Given the description of an element on the screen output the (x, y) to click on. 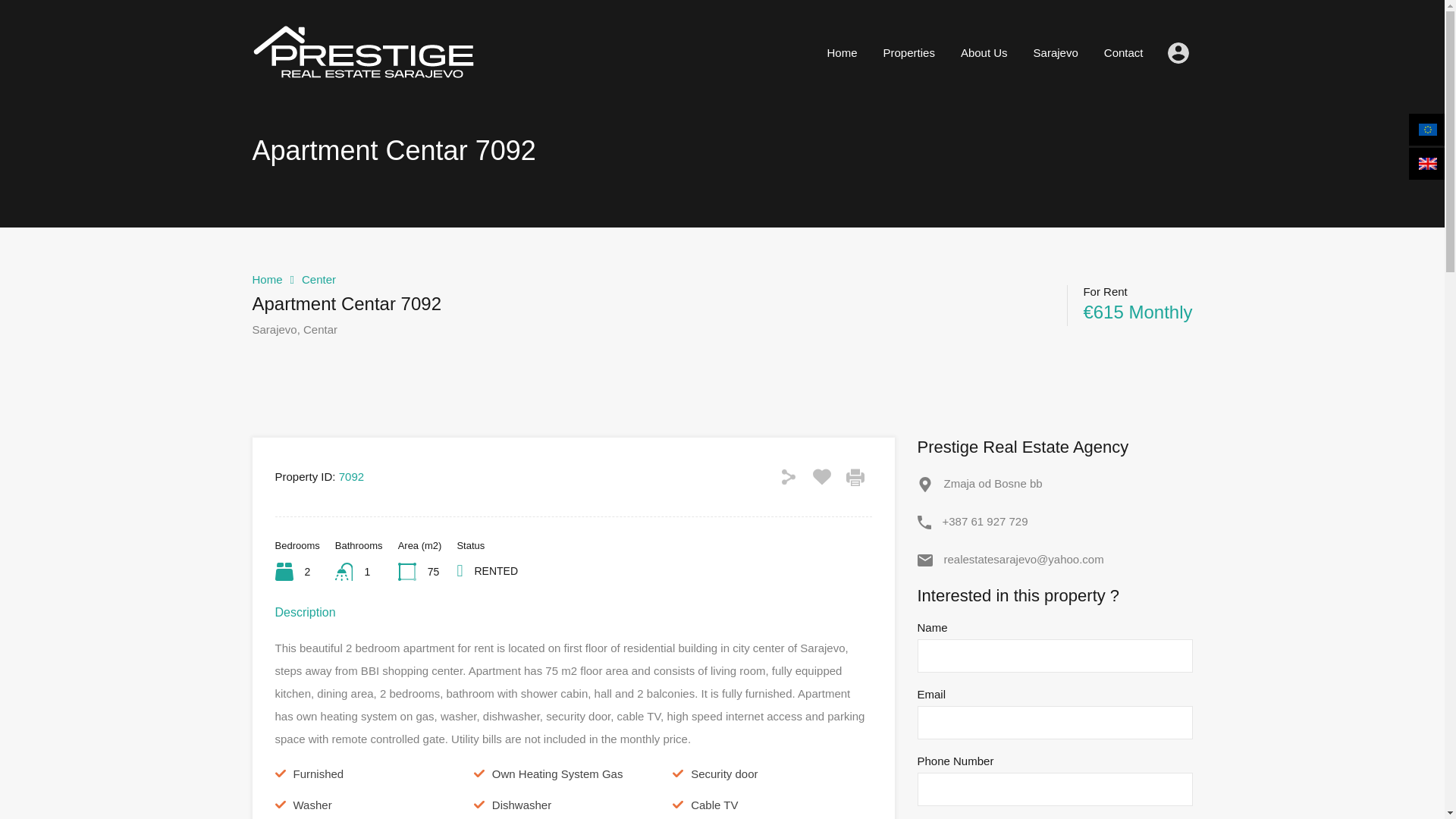
Prestige Real Estate Sarajevo (365, 83)
Properties (908, 53)
Contact (1123, 53)
Home (841, 53)
Home (266, 279)
Sarajevo (1055, 53)
Center (318, 279)
About Us (983, 53)
